Given the description of an element on the screen output the (x, y) to click on. 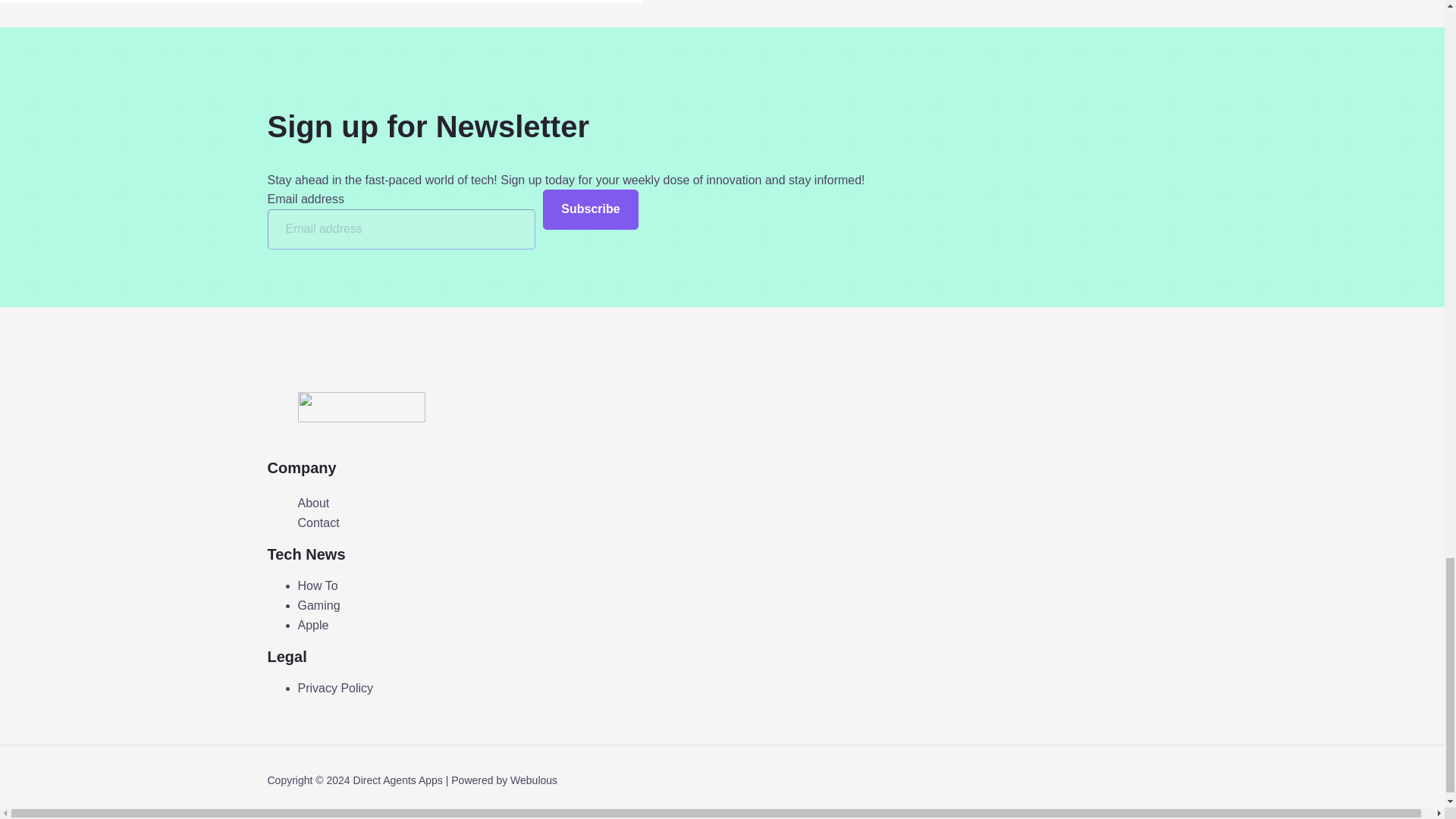
Privacy Policy (334, 687)
Contact (318, 523)
Apple (313, 624)
About (313, 503)
Please fill in this field. (400, 229)
Subscribe (590, 209)
How To (317, 585)
Gaming (318, 604)
